Given the description of an element on the screen output the (x, y) to click on. 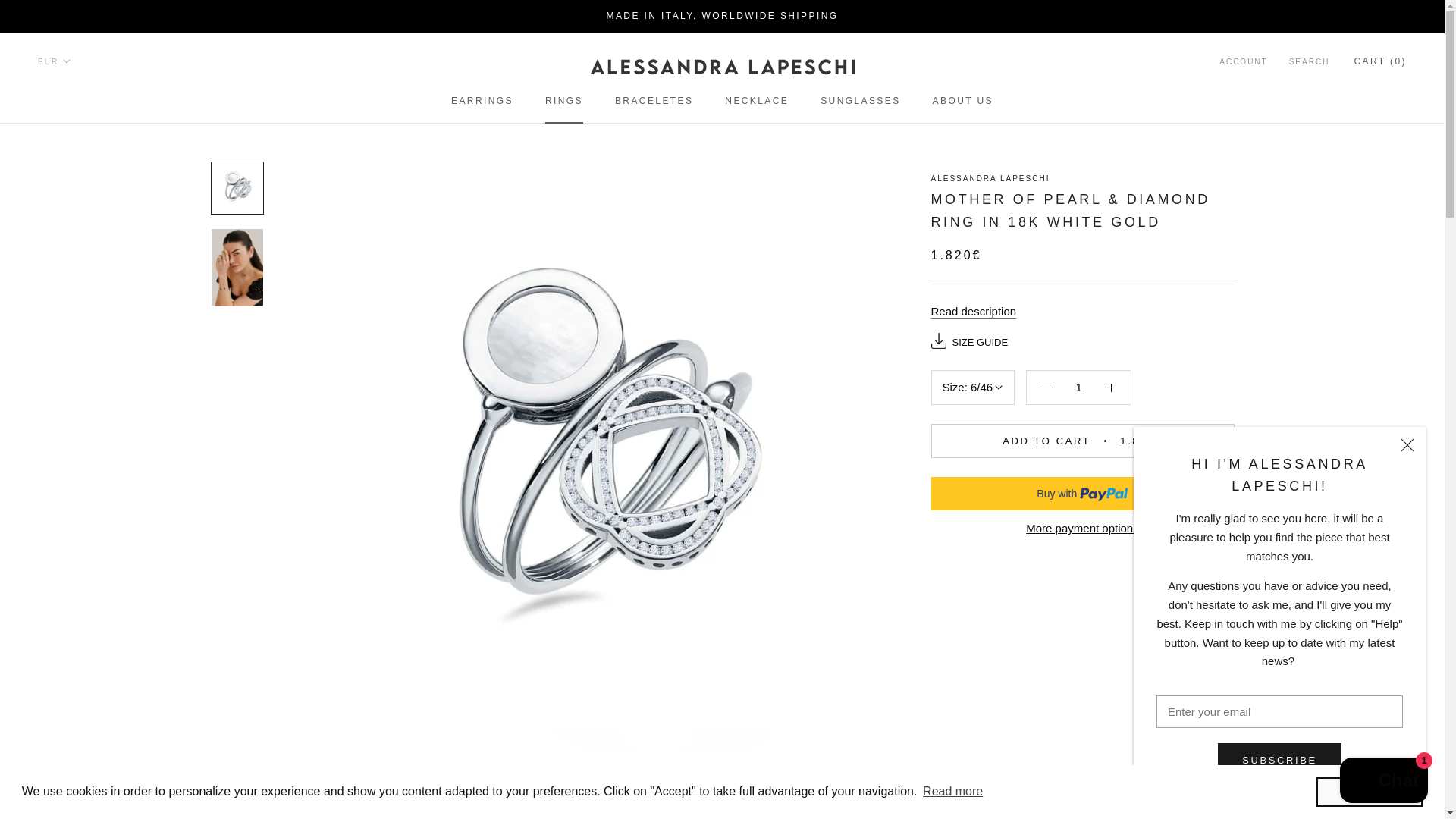
Read description (973, 310)
Read more (563, 100)
SEARCH (952, 791)
SIZE GUIDE (1309, 62)
1 (980, 342)
Shopify online store chat (1078, 386)
SUBSCRIBE (653, 100)
Accept (1383, 781)
ACCOUNT (860, 100)
